Given the description of an element on the screen output the (x, y) to click on. 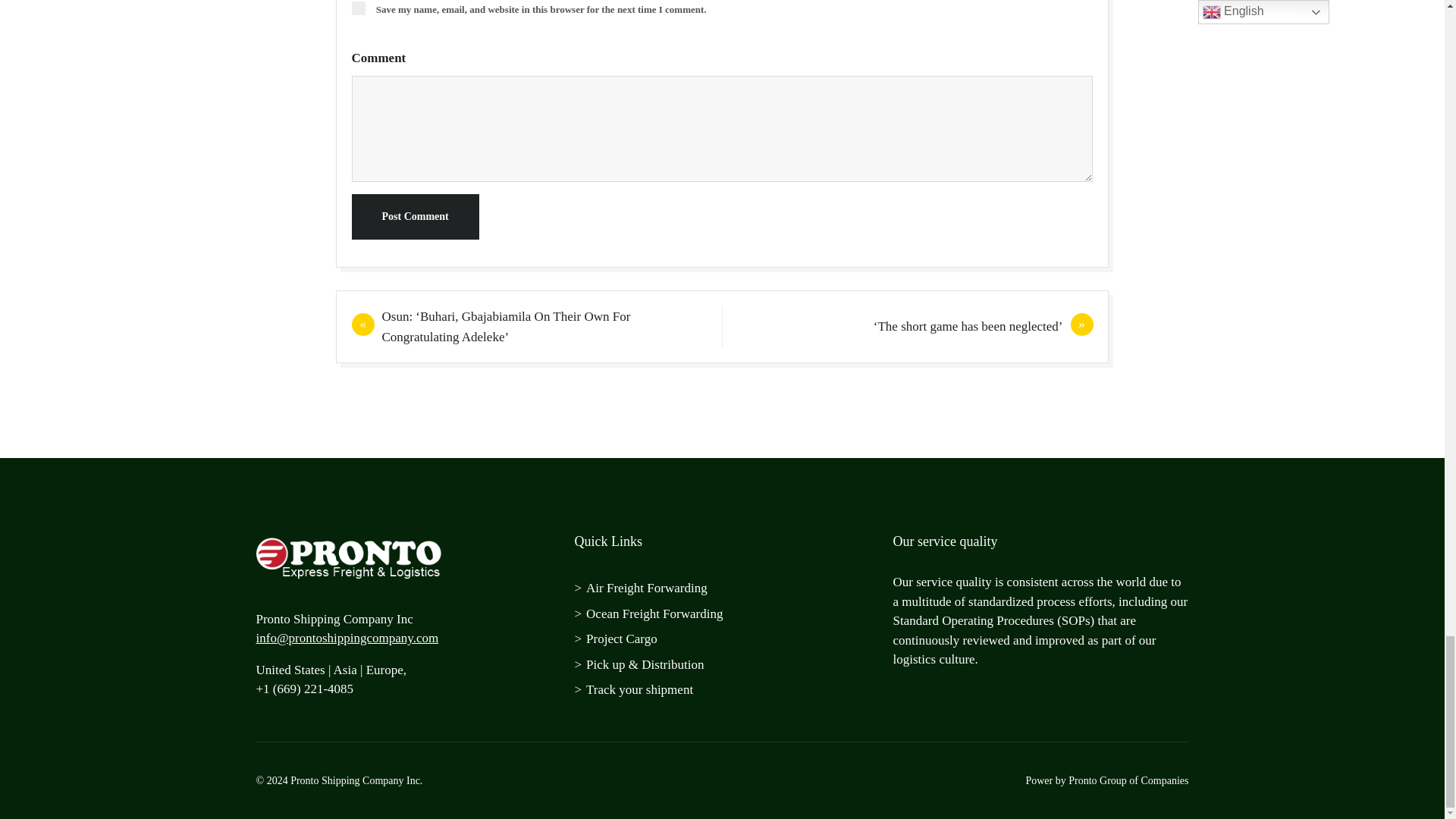
yes (358, 8)
